Given the description of an element on the screen output the (x, y) to click on. 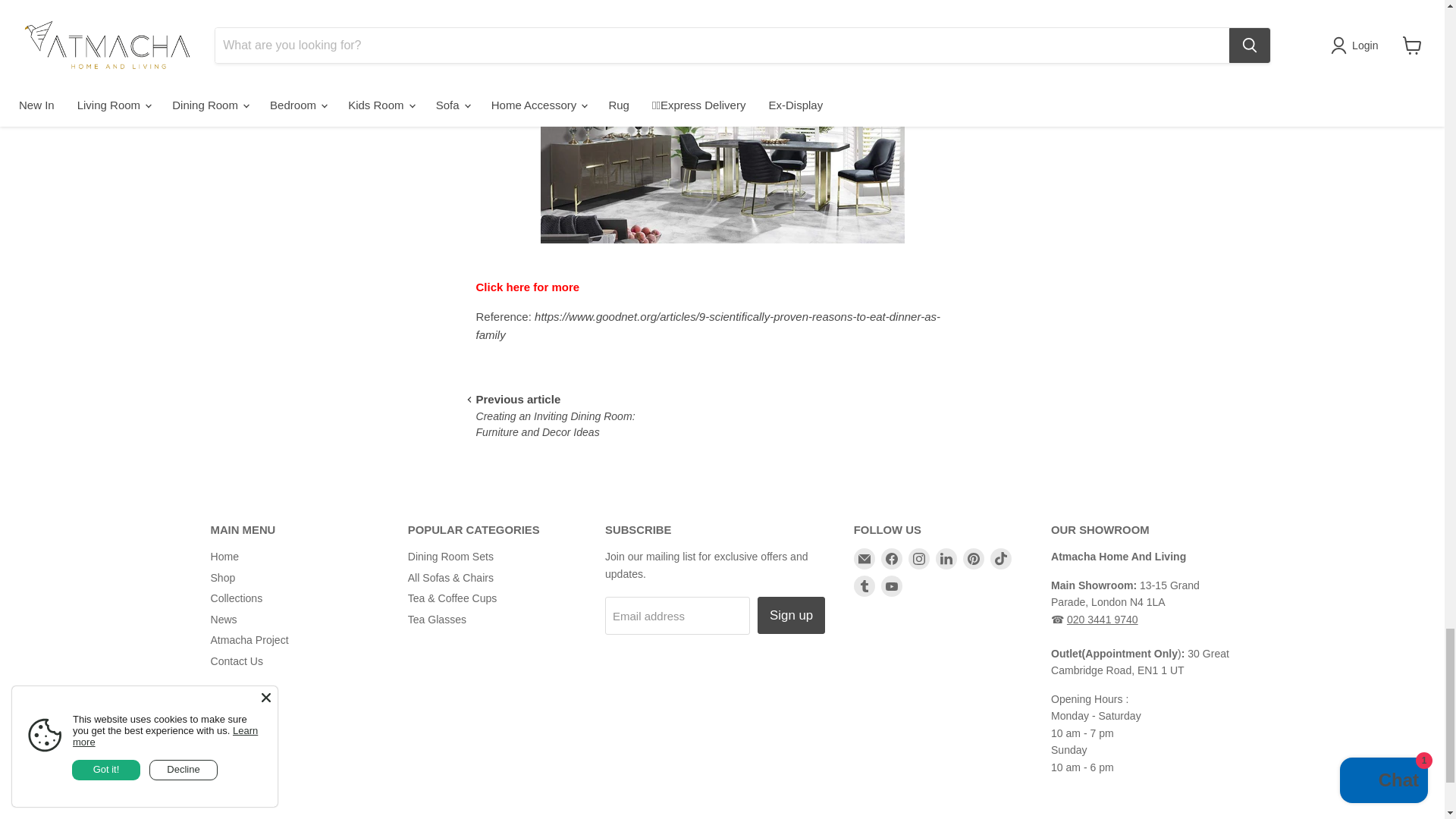
Pinterest (973, 558)
Facebook (891, 558)
Email (864, 558)
TikTok (1000, 558)
YouTube (891, 586)
Tumblr (864, 586)
LinkedIn (946, 558)
Instagram (919, 558)
